Given the description of an element on the screen output the (x, y) to click on. 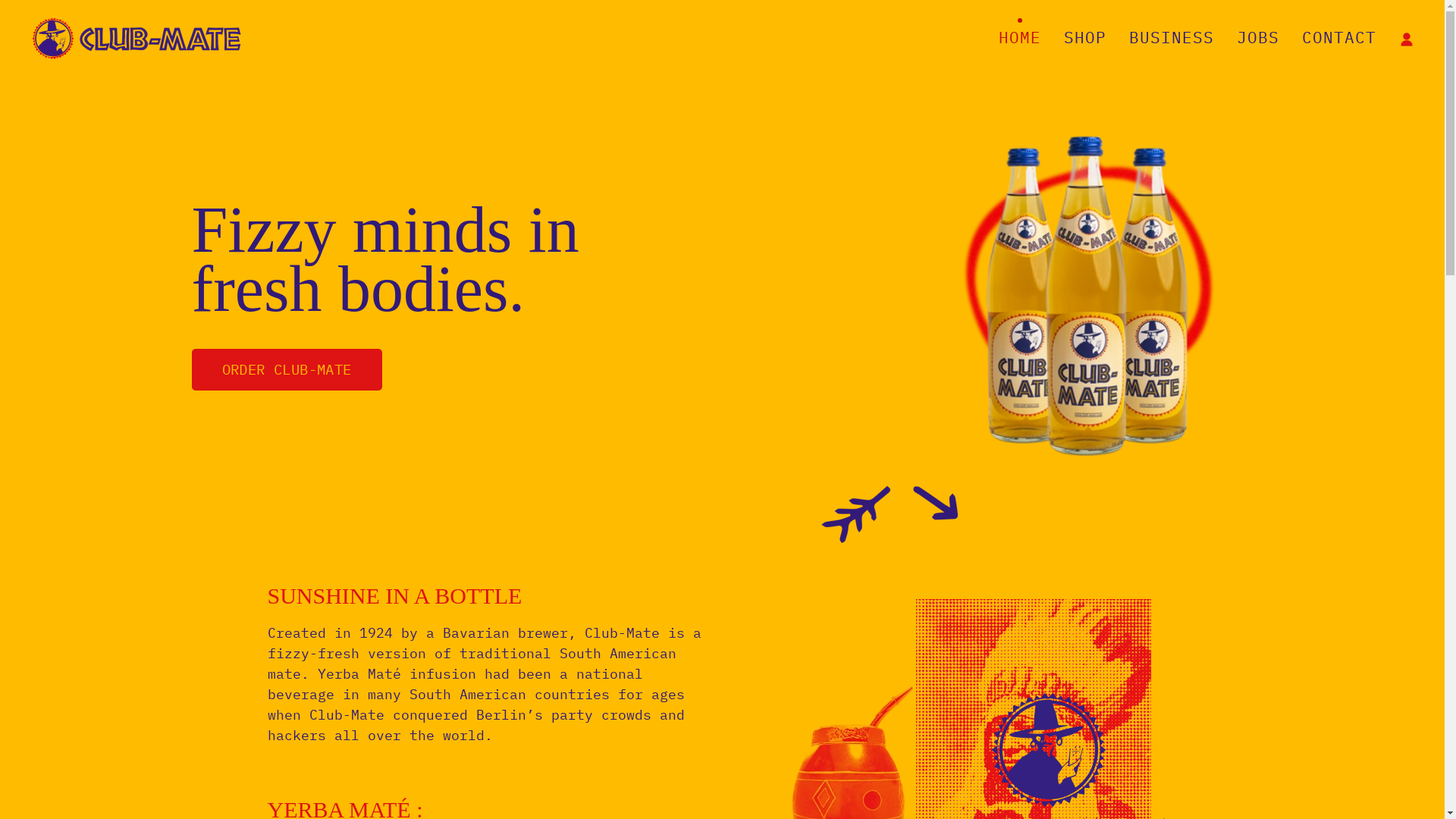
ORDER CLUB-MATE Element type: text (286, 369)
HOME Element type: text (1019, 37)
JOBS Element type: text (1257, 37)
BUSINESS Element type: text (1171, 37)
CONTACT Element type: text (1339, 37)
SHOP Element type: text (1084, 37)
